Given the description of an element on the screen output the (x, y) to click on. 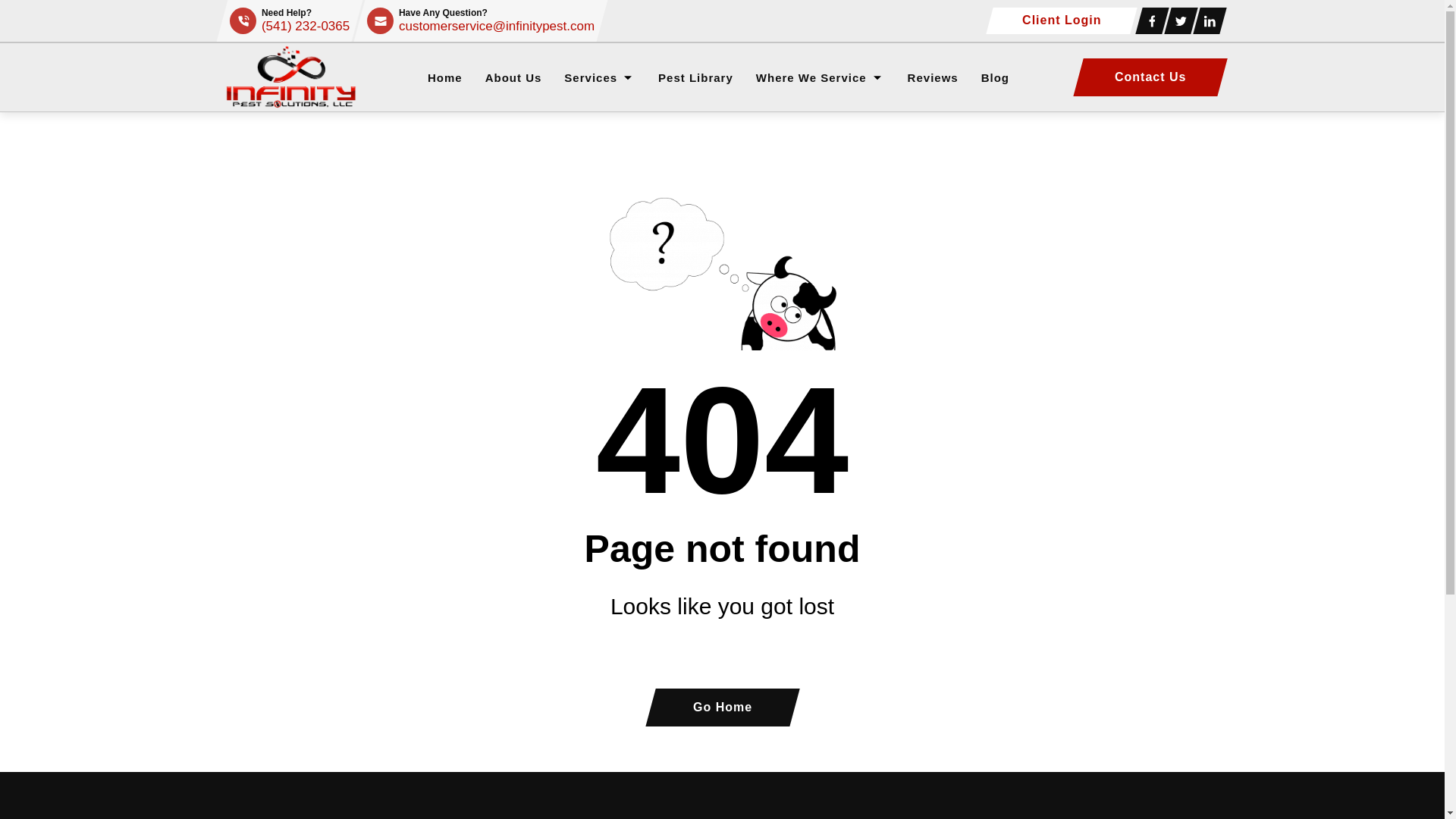
Where We Service (810, 77)
Client Login (1057, 20)
Contact Us (1145, 77)
Pest Library (695, 77)
Go Home (717, 707)
